Given the description of an element on the screen output the (x, y) to click on. 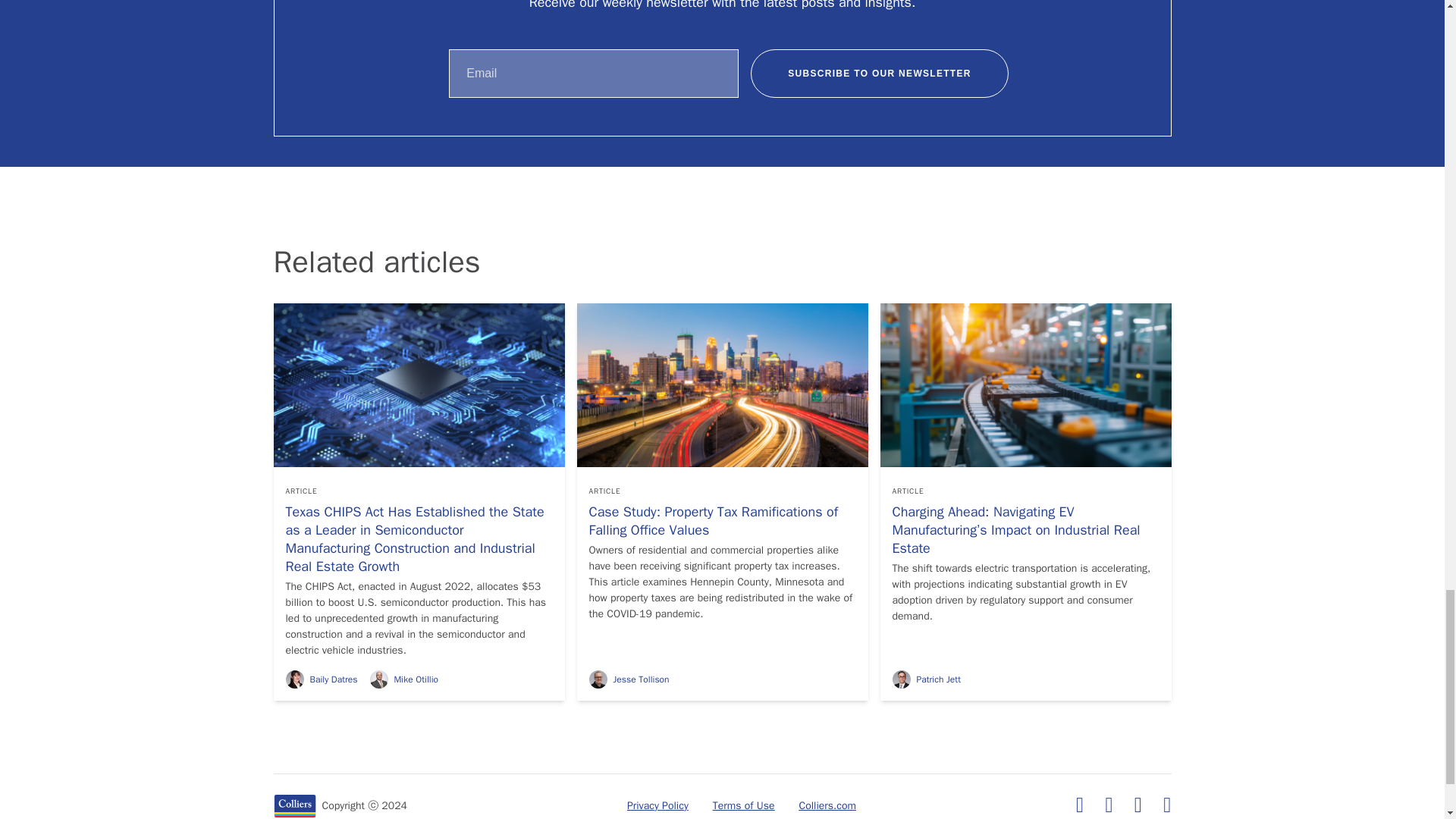
Patrich Jett (925, 679)
Jesse Tollison (628, 679)
Baily Datres (320, 679)
Mike Otillio (403, 679)
Terms of Use (743, 806)
Privacy Policy (657, 806)
